Given the description of an element on the screen output the (x, y) to click on. 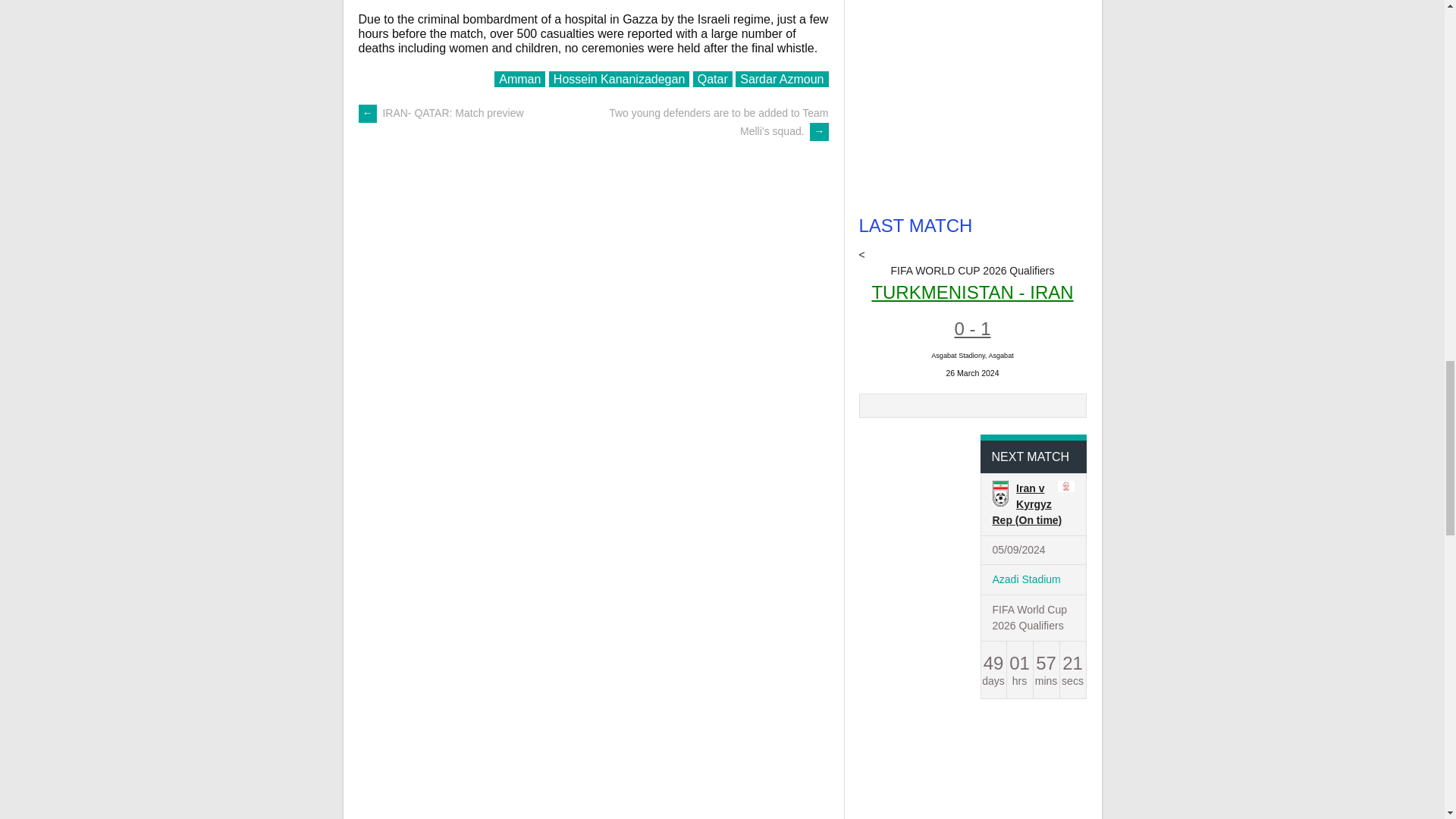
Amman (519, 78)
Kyrgyzstan (1066, 488)
Sardar Azmoun (781, 78)
Hossein Kananizadegan (618, 78)
Qatar (712, 78)
Advertisement (1019, 99)
Iran (1000, 495)
